Given the description of an element on the screen output the (x, y) to click on. 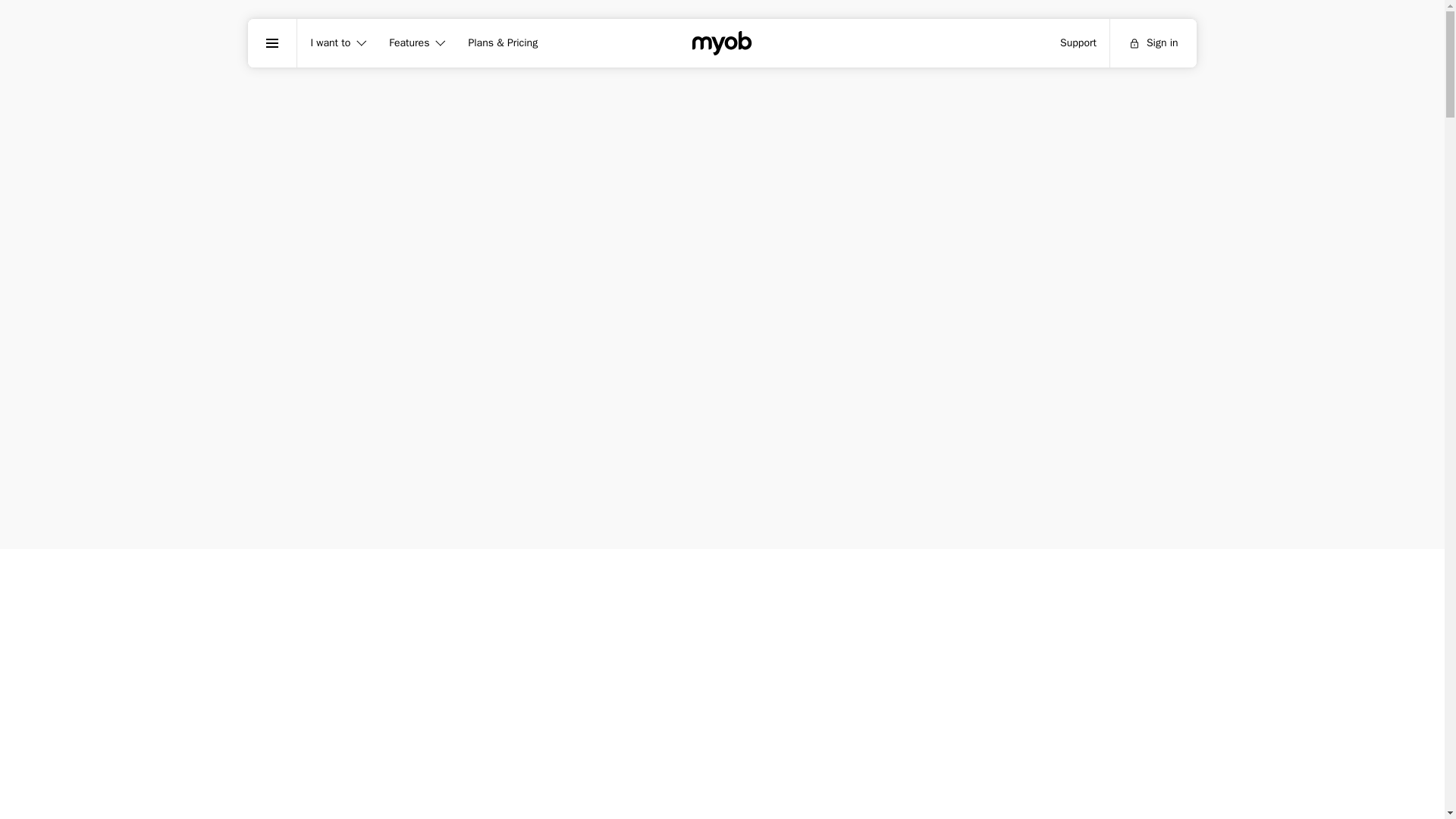
Explore (272, 42)
Features (414, 42)
Support (1077, 42)
Sign in (1152, 42)
I want to (336, 42)
